Given the description of an element on the screen output the (x, y) to click on. 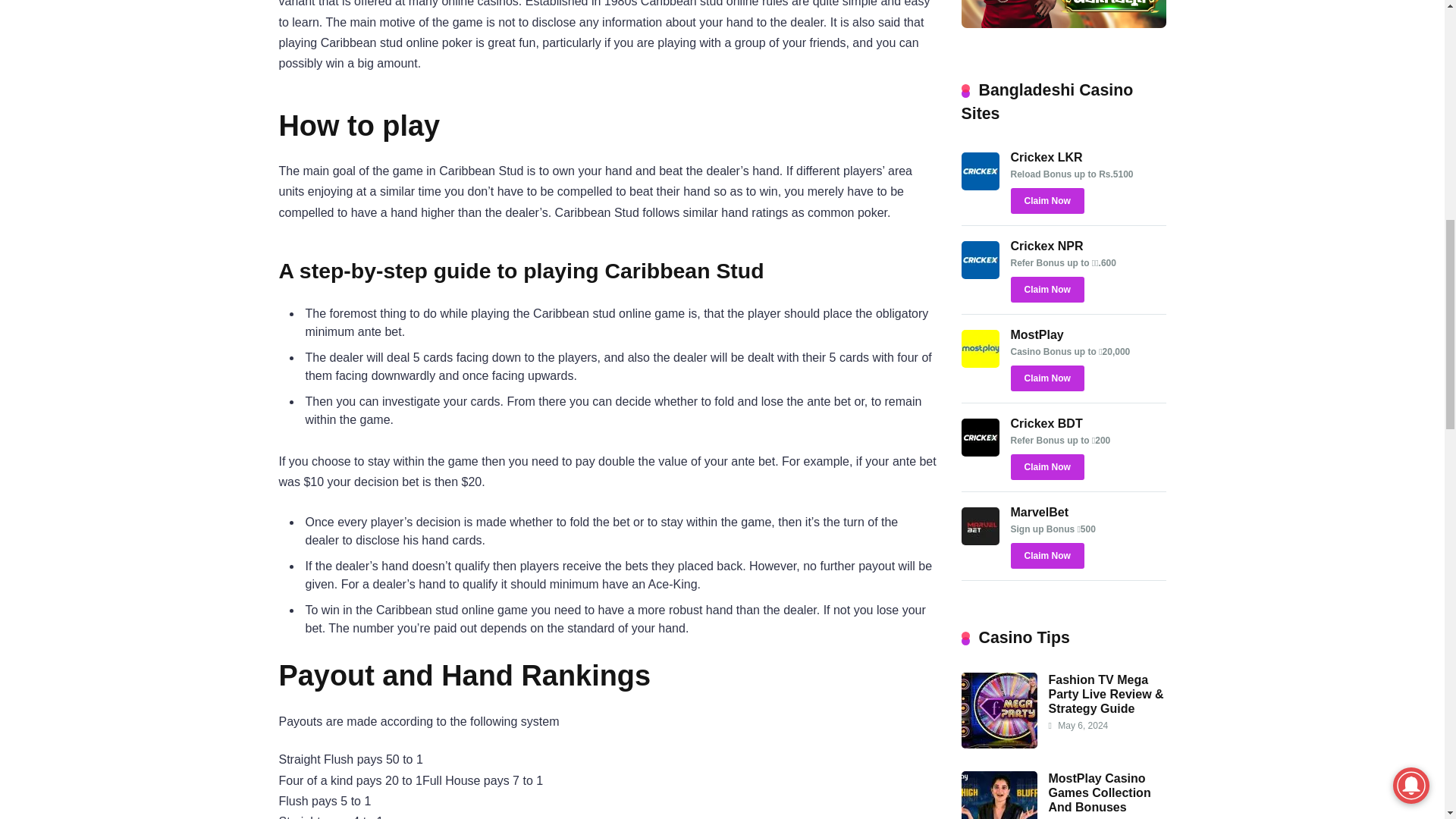
MarvelBet (1038, 512)
Claim Now (1046, 289)
Claim Now (1046, 378)
MostPlay (979, 363)
Claim Now (1046, 200)
MostPlay (1036, 334)
Crickex BDT (979, 451)
Crickex LKR (1045, 156)
Claim Now (1046, 466)
Claim Now (1046, 555)
